Given the description of an element on the screen output the (x, y) to click on. 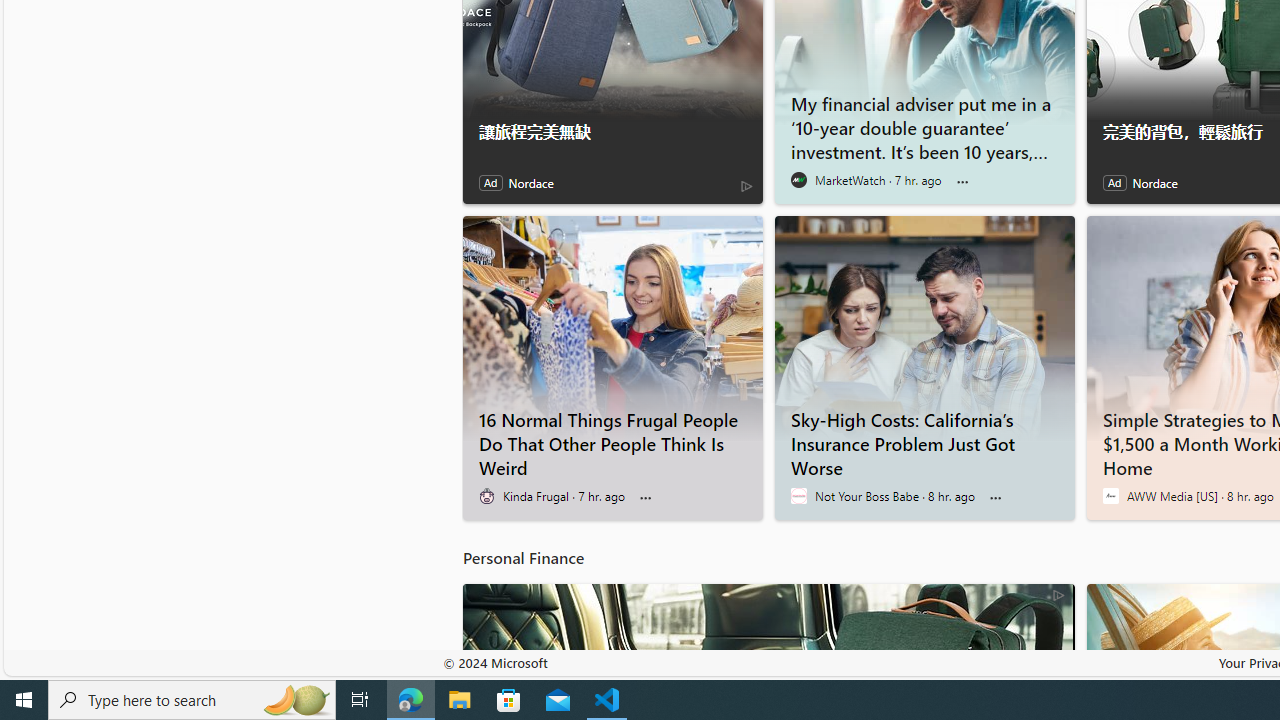
Not Your Boss Babe (797, 495)
AdChoices (1058, 594)
Kinda Frugal (486, 495)
AWW Media [US] (1110, 495)
MarketWatch (797, 179)
